Given the description of an element on the screen output the (x, y) to click on. 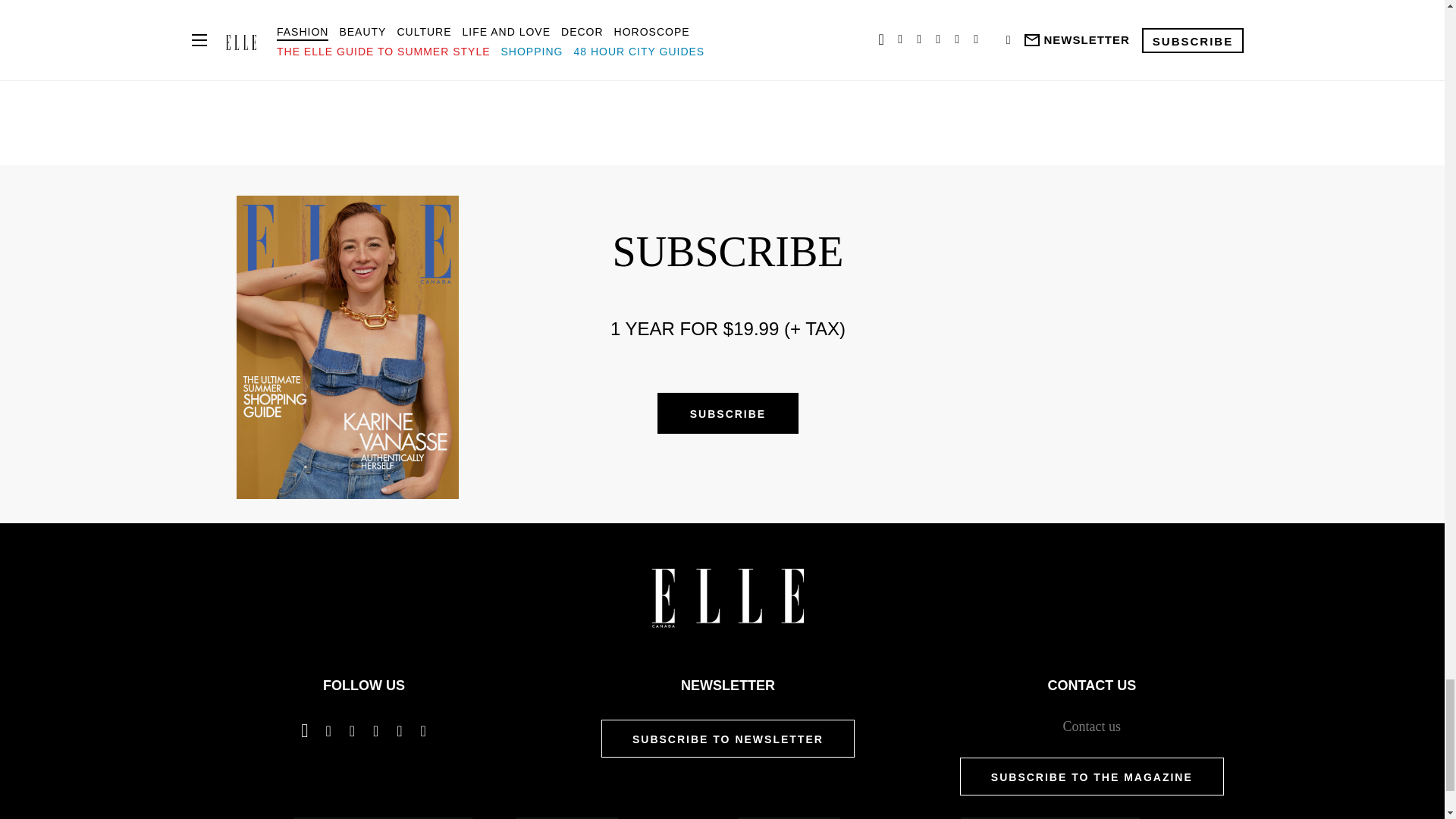
SUBSCRIBE (727, 413)
